Given the description of an element on the screen output the (x, y) to click on. 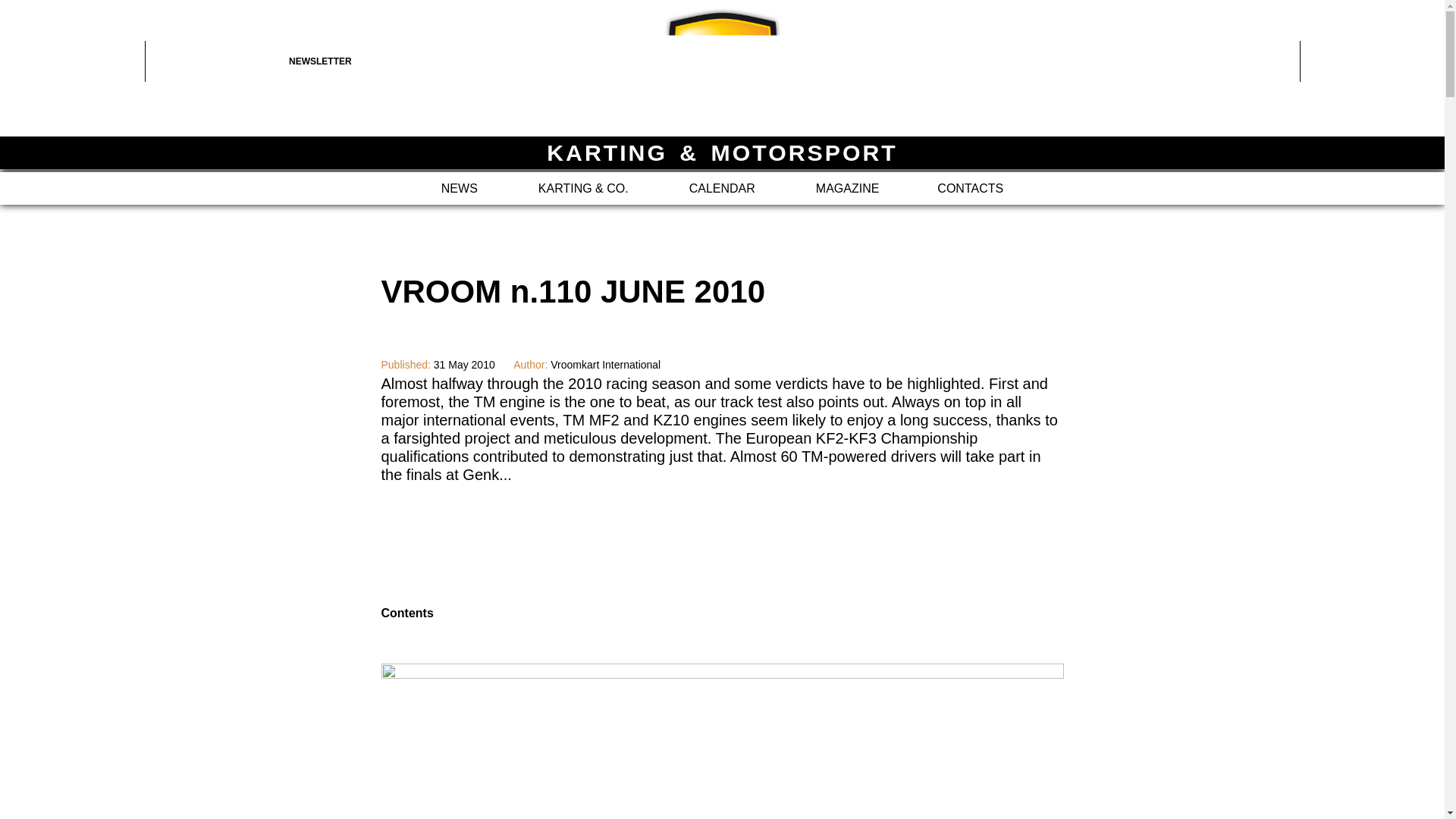
NEWSLETTER (360, 60)
NEWSLETTER (360, 60)
VROOM n.110 JUNE 2010  (721, 507)
Search (1371, 60)
